Given the description of an element on the screen output the (x, y) to click on. 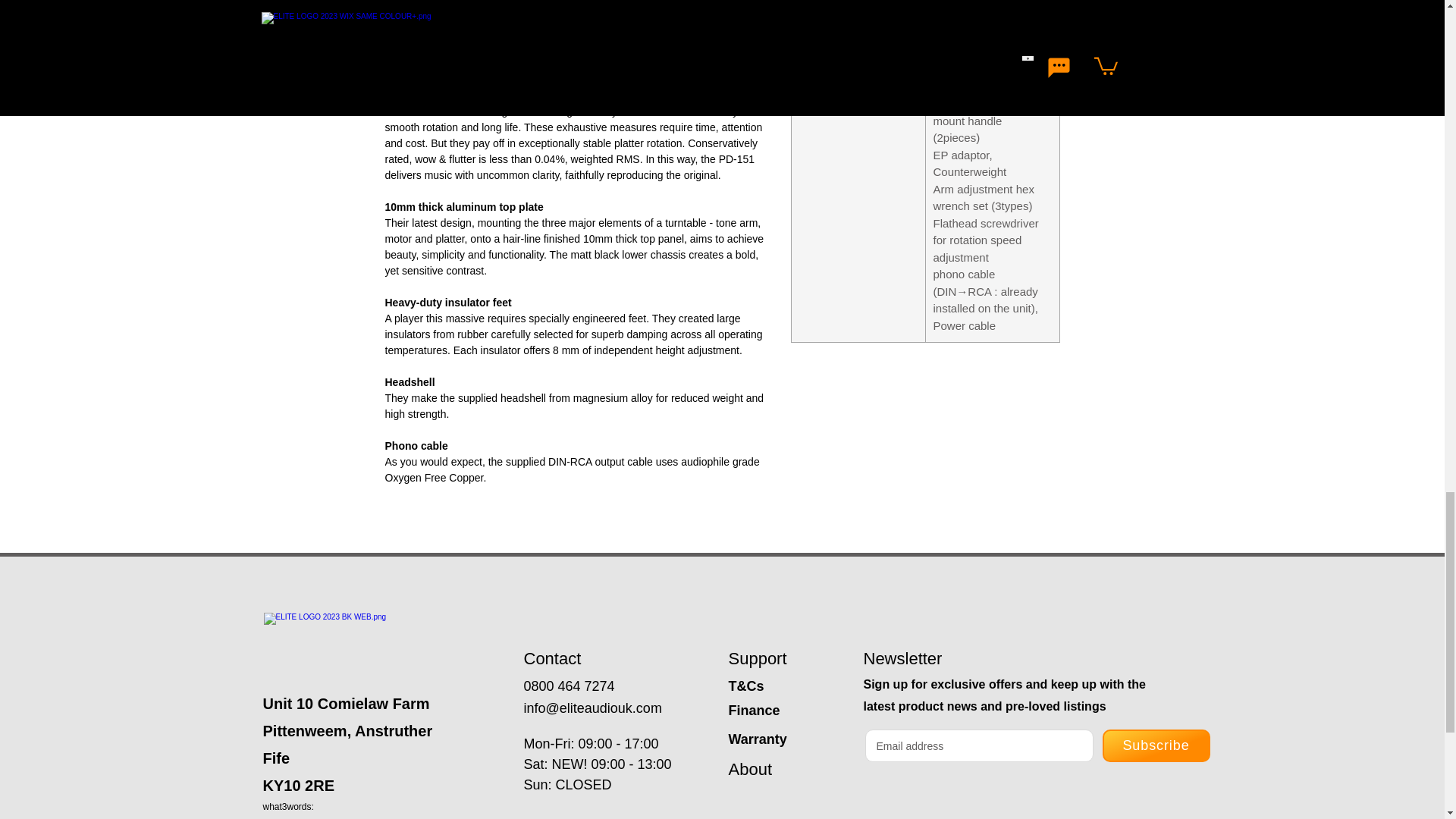
About (749, 769)
Warranty (757, 737)
Subscribe (1155, 745)
ELITE AUDIO UK LOGO ORANGE-G.png (369, 639)
